Given the description of an element on the screen output the (x, y) to click on. 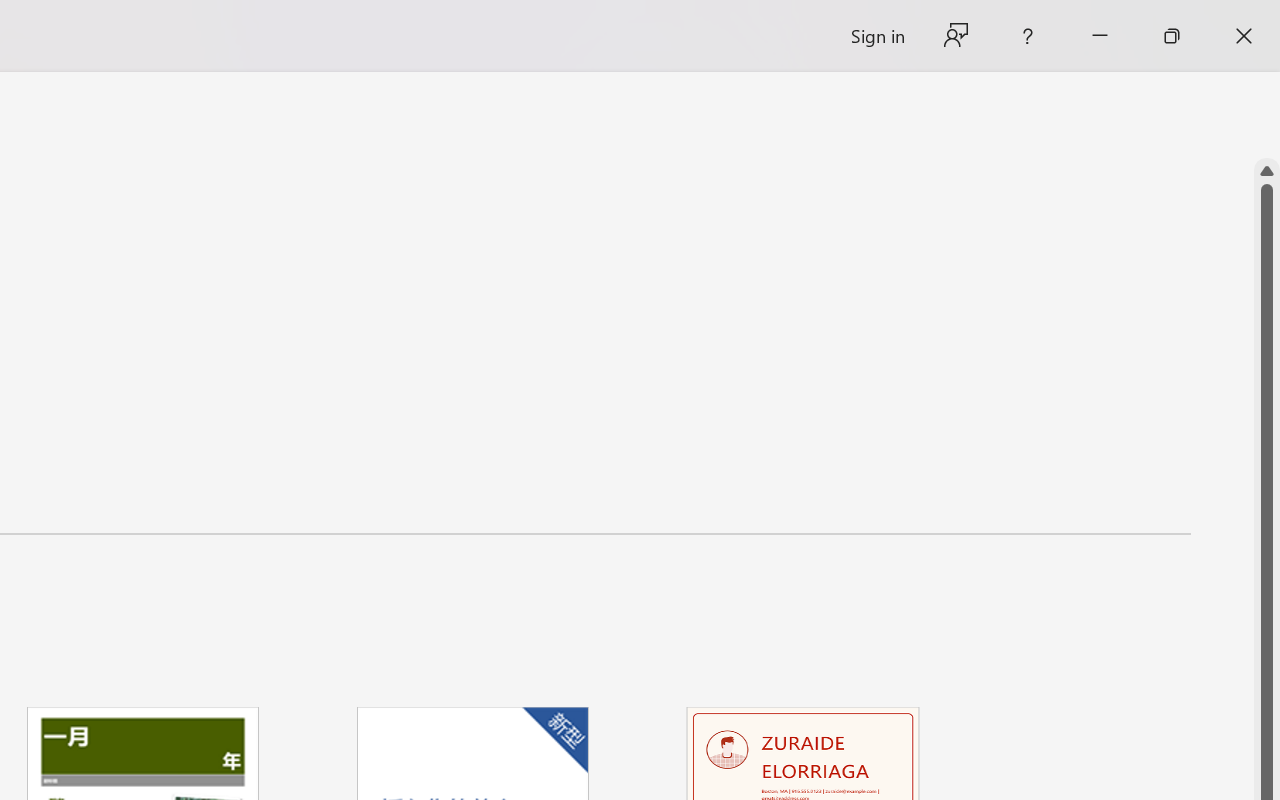
Install (351, 672)
Open account menu (1228, 132)
Content rating Rated for 3+ (114, 687)
Help Center (1180, 132)
Settings - System (901, 22)
Sign in - Google Accounts (278, 22)
Android Apps on Google Play (1005, 22)
